Given the description of an element on the screen output the (x, y) to click on. 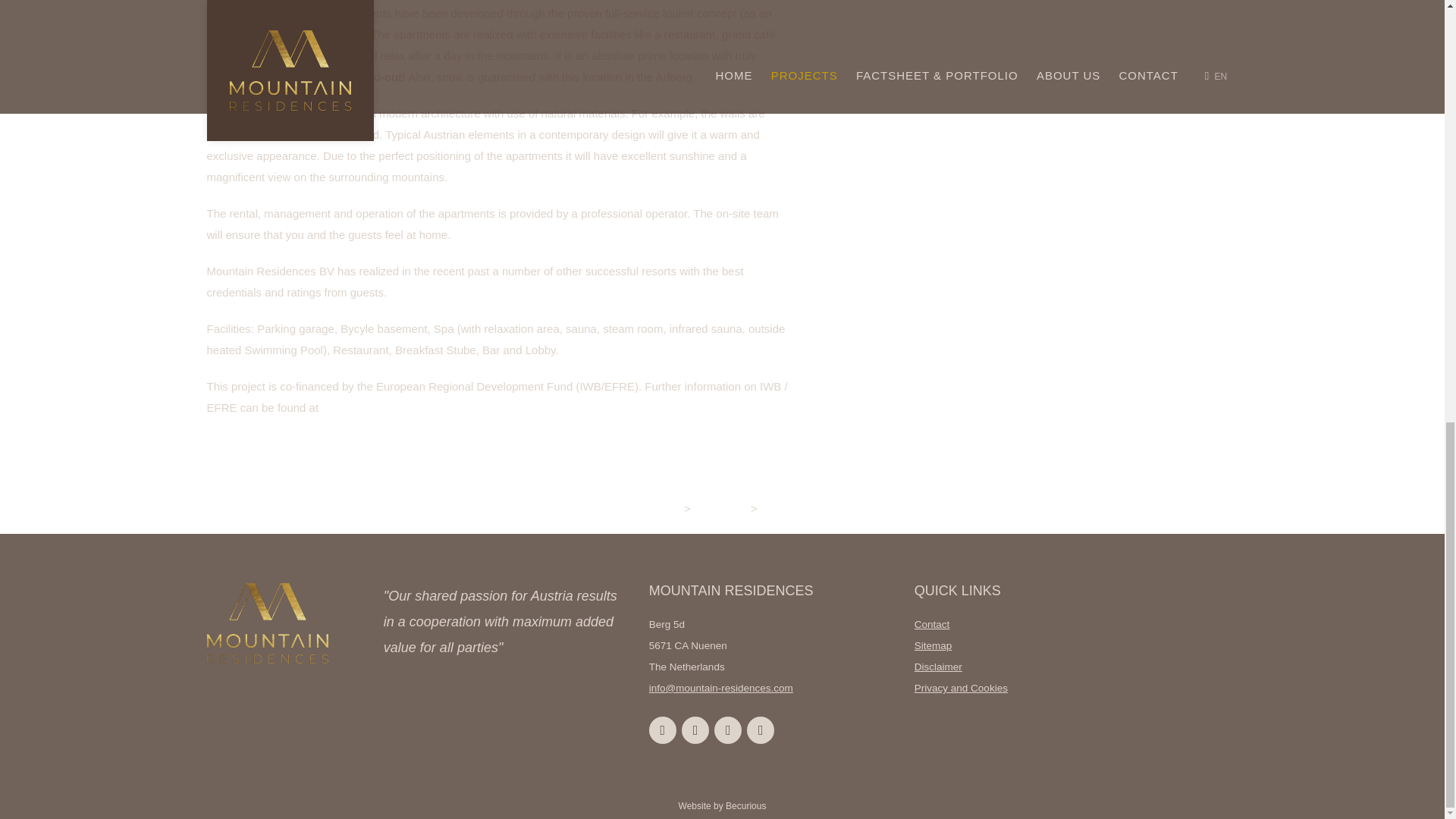
Resort Warth - Arlberg (823, 508)
Contact (932, 624)
Privacy and Cookies (960, 687)
Website by Becurious (722, 805)
Mountain Residences (620, 508)
Disclaimer (938, 666)
Projects (722, 508)
Website by Becurious (722, 805)
Sitemap (933, 645)
www.efre.gv.at (357, 407)
